Given the description of an element on the screen output the (x, y) to click on. 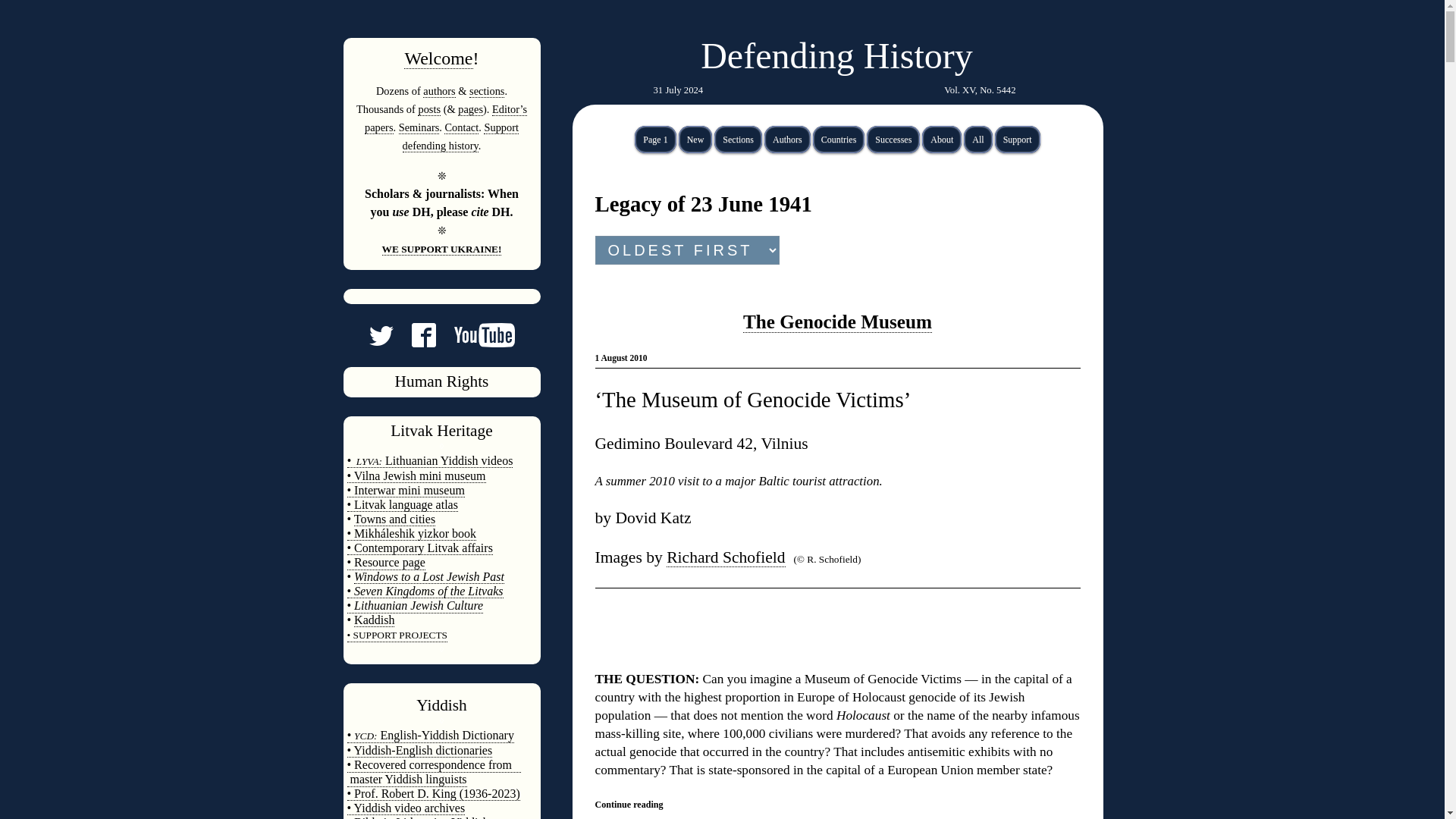
Kaddish (373, 620)
Towns and cities (394, 519)
authors (438, 91)
Human Rights (441, 381)
Seminars (418, 127)
Windows to a Lost Jewish Past (428, 576)
Welcome (437, 58)
sections (485, 91)
Permalink to The Genocide Museum (836, 322)
Follow us on Twitter (380, 341)
Follow us on Facebook (414, 341)
Support defending history (460, 136)
Contact (461, 127)
WE SUPPORT UKRAINE! (441, 248)
Follow us on Youtube (474, 341)
